Given the description of an element on the screen output the (x, y) to click on. 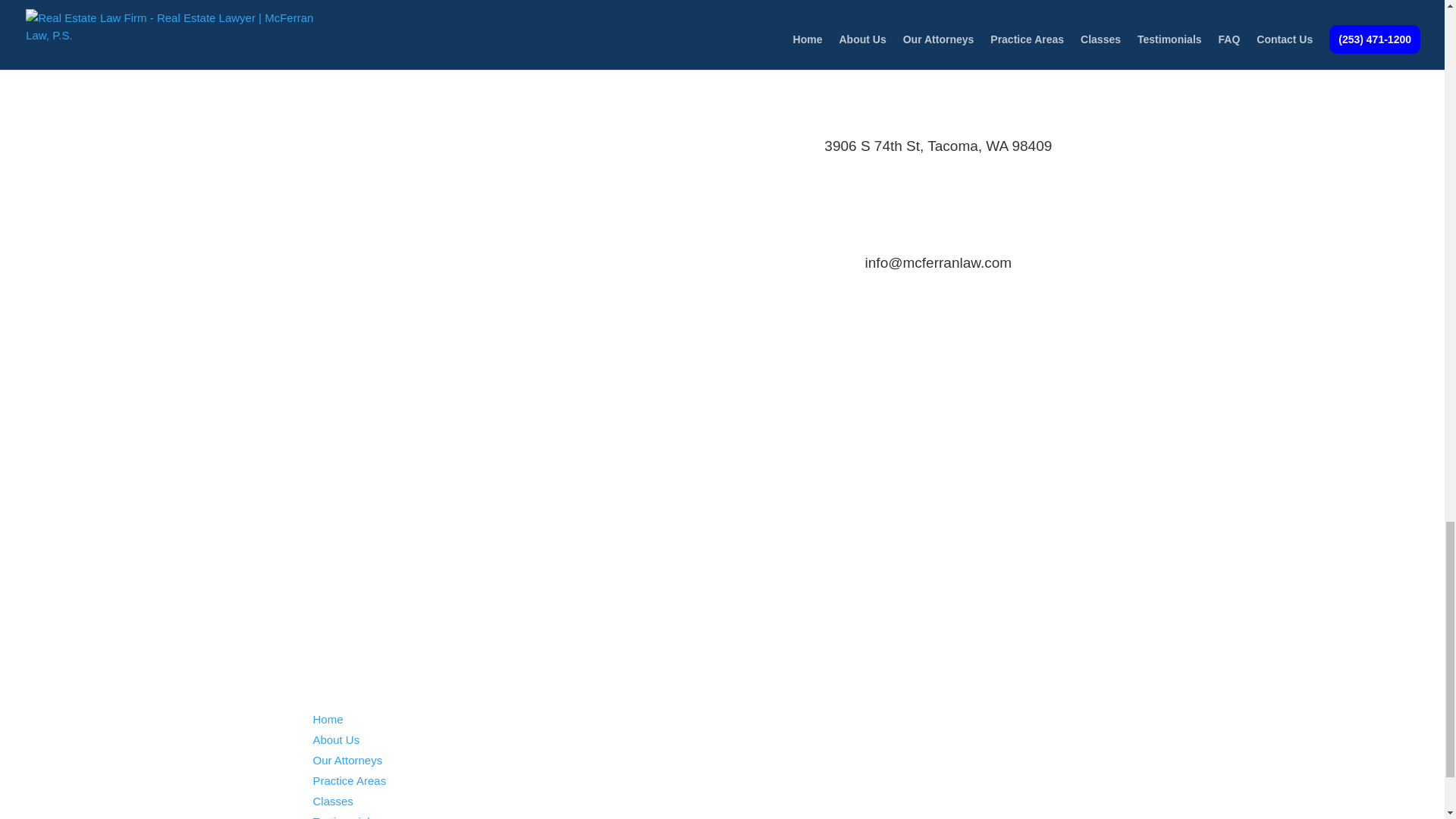
Our Attorneys (347, 759)
Home (327, 718)
About Us (336, 739)
Testimonials (344, 816)
3906 S 74th St, Tacoma, WA 98409 (937, 145)
Classes (332, 800)
Practice Areas (349, 780)
